Given the description of an element on the screen output the (x, y) to click on. 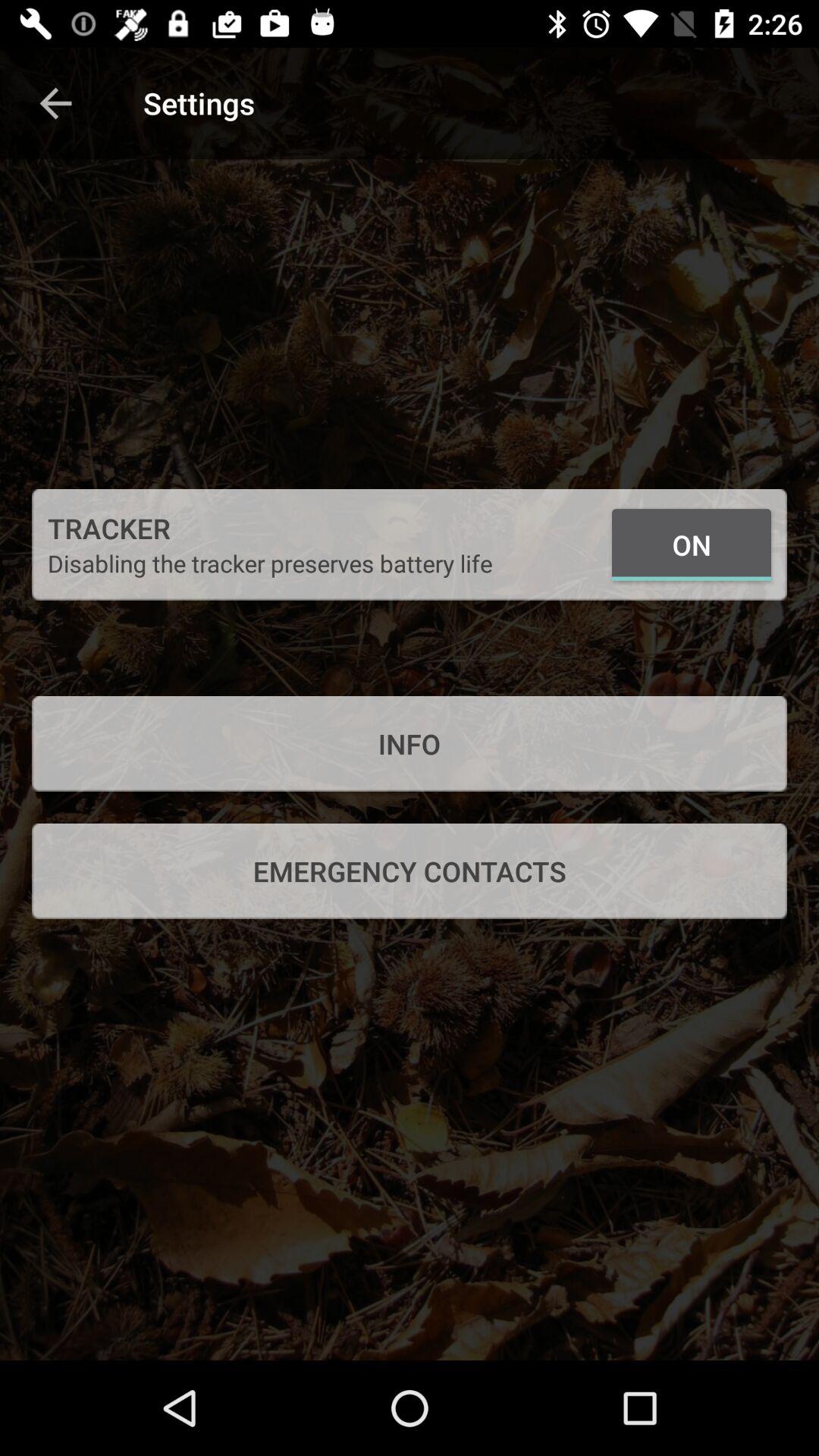
scroll until the emergency contacts icon (409, 871)
